Given the description of an element on the screen output the (x, y) to click on. 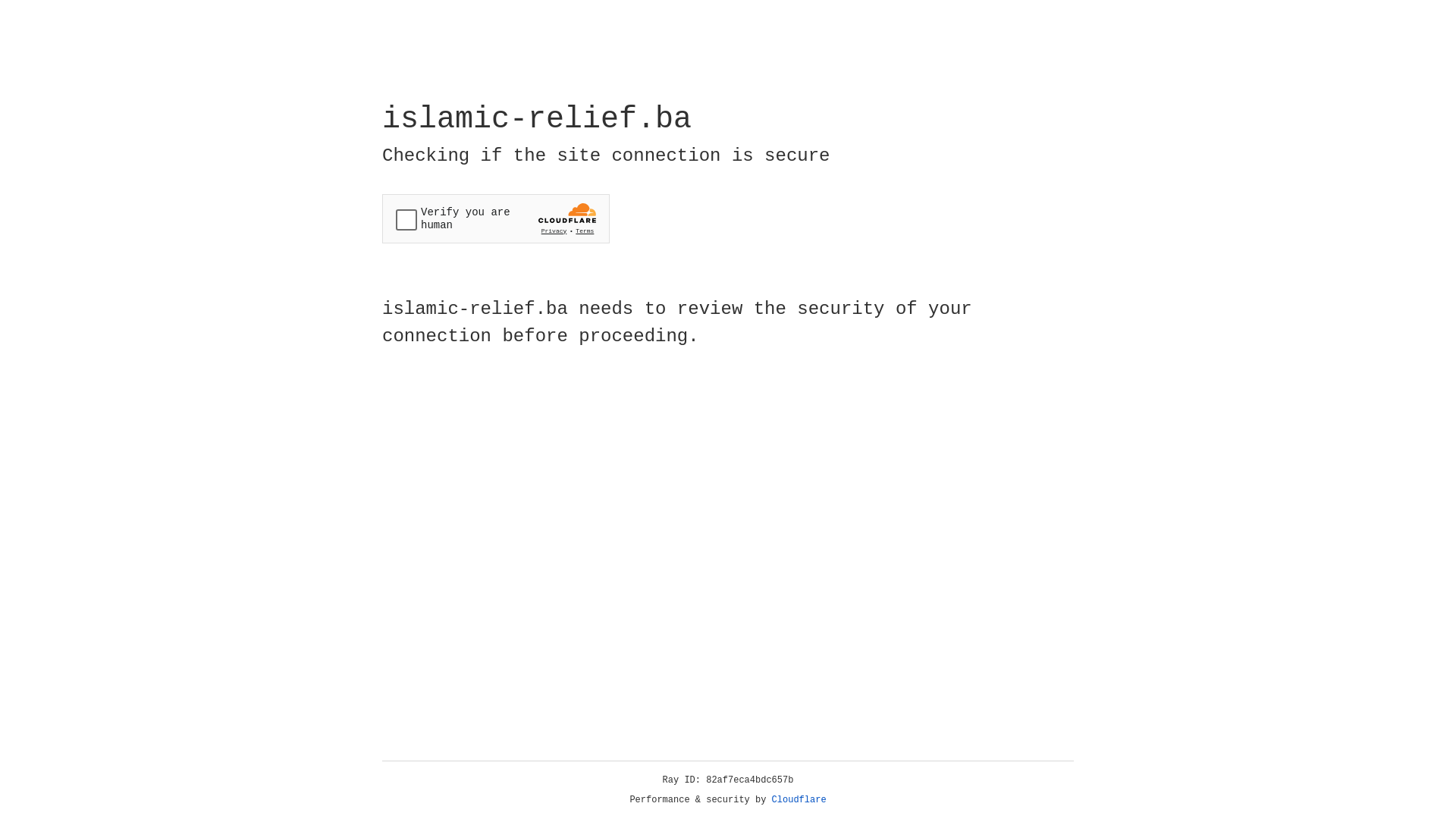
Cloudflare Element type: text (798, 799)
Widget containing a Cloudflare security challenge Element type: hover (495, 218)
